Given the description of an element on the screen output the (x, y) to click on. 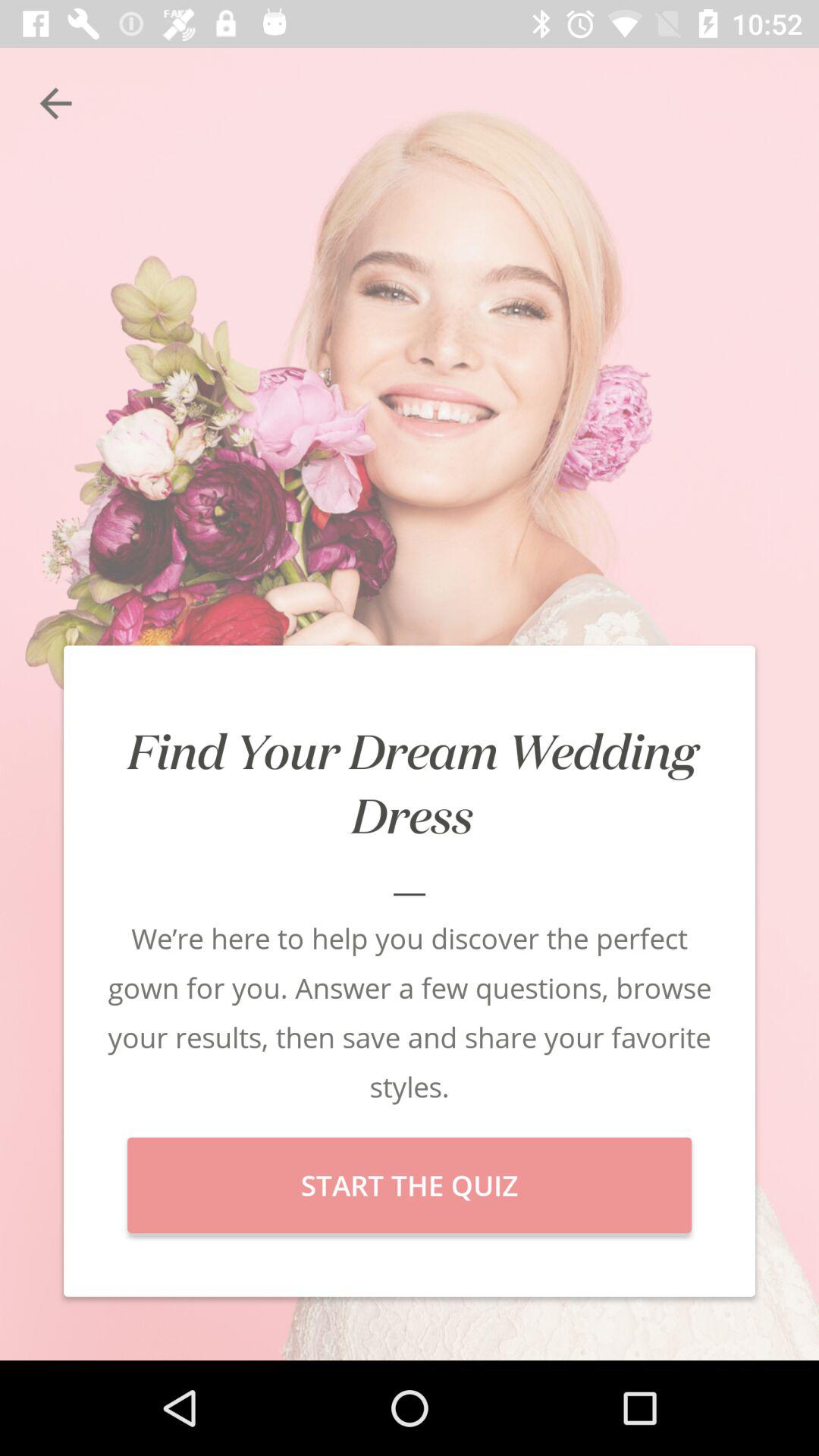
turn on item above find your dream (55, 103)
